Given the description of an element on the screen output the (x, y) to click on. 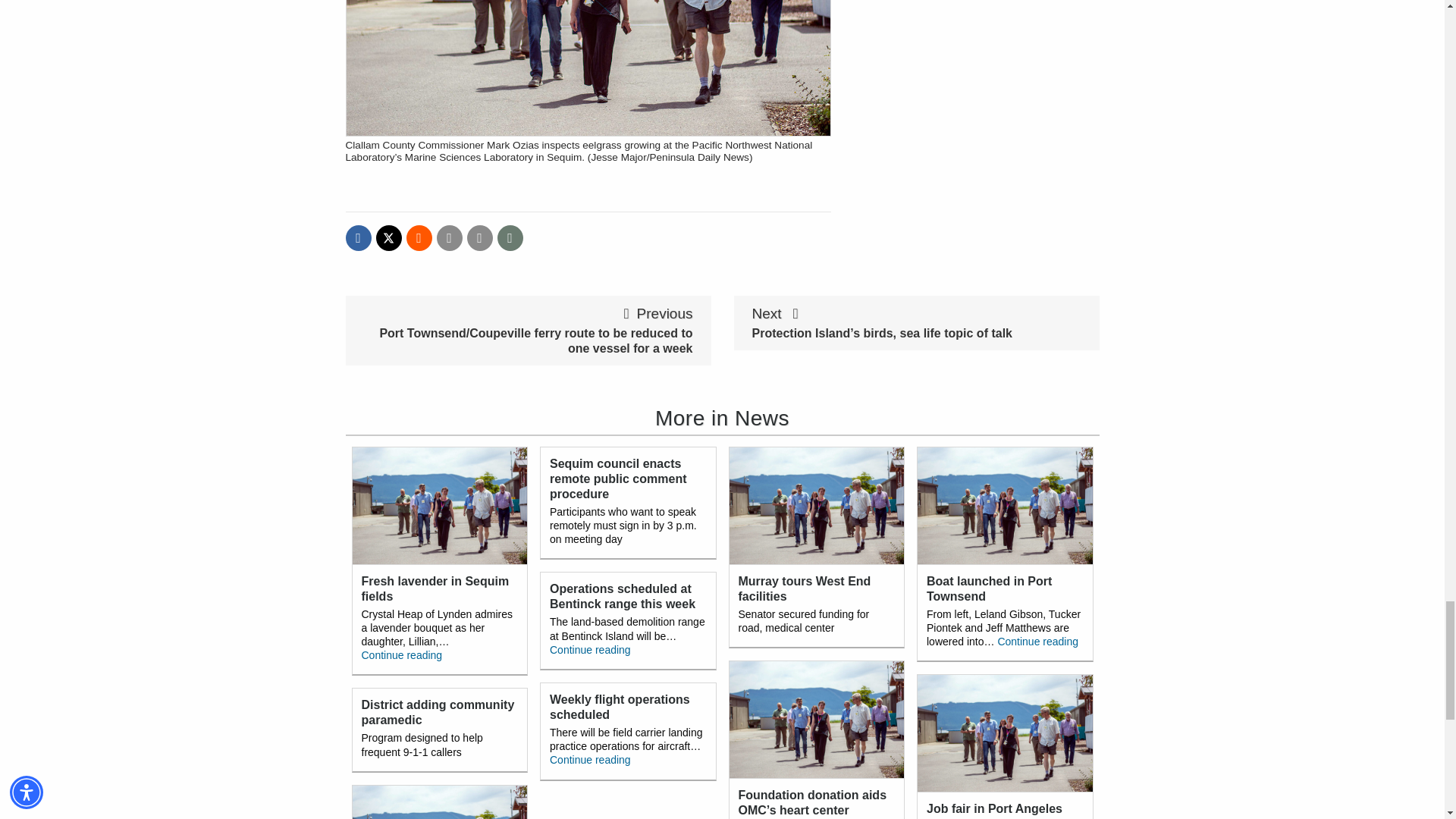
Print story (480, 237)
Post to Reddit (419, 237)
Email story (449, 237)
Post to Facebook (358, 237)
View 1 additional image (509, 237)
Post to Twitter (388, 237)
